Given the description of an element on the screen output the (x, y) to click on. 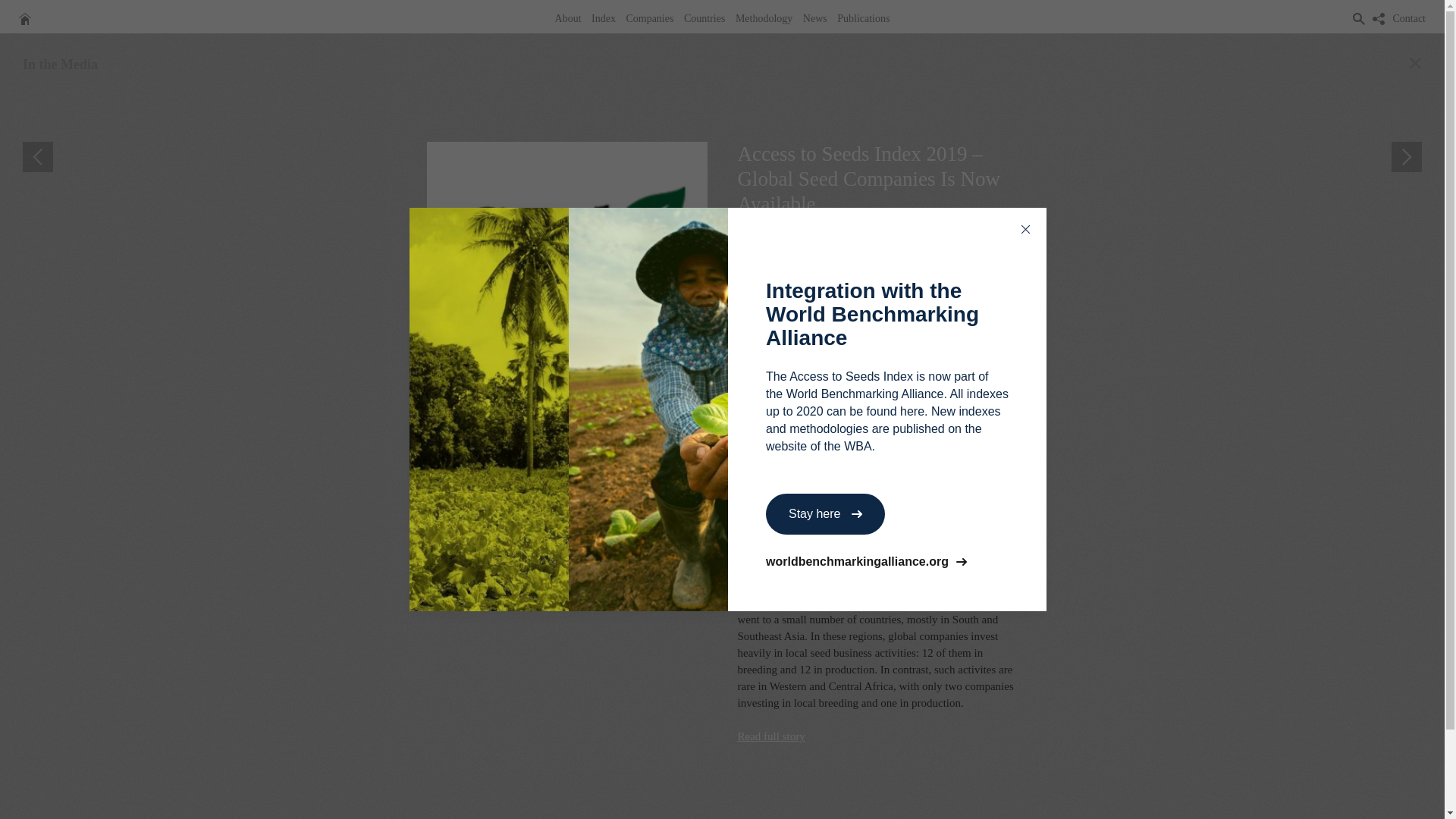
About (568, 18)
News (815, 18)
Companies (649, 18)
Index (604, 18)
Share (851, 235)
Stay here (825, 513)
About (568, 18)
News (815, 18)
Publications (862, 18)
Publications (862, 18)
Contact (1409, 18)
Methodology (764, 18)
Read full story (770, 736)
In the Media (60, 64)
worldbenchmarkingalliance.org (887, 561)
